Given the description of an element on the screen output the (x, y) to click on. 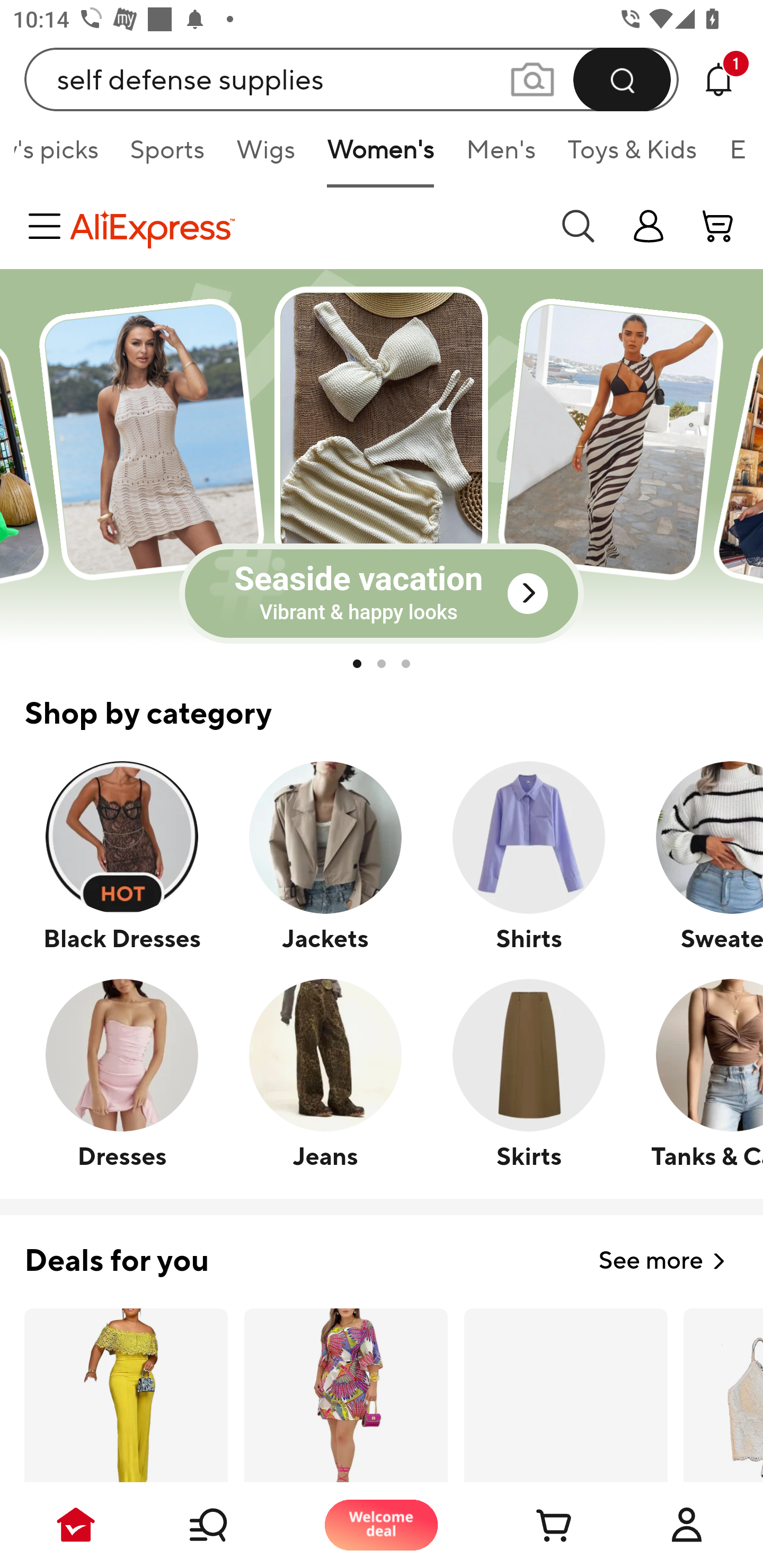
self defense supplies (351, 79)
Paddy's picks (63, 155)
Sports (166, 155)
Wigs (265, 155)
Men's (500, 155)
Toys & Kids (632, 155)
aliexpress (305, 225)
category (47, 225)
shop (648, 225)
account (718, 225)
Shop by category (381, 702)
Black Dresses 225x230.png_ Black Dresses (121, 855)
Jackets 225x225.png_ Jackets (324, 855)
Shirts 225x225.png_ Shirts (528, 855)
Sweaters 225x225.png_ Sweaters (696, 855)
Dresses 225x225.png_ Dresses (121, 1073)
Jeans 225x225.png_ Jeans (324, 1073)
Skirts 225x225.png_ Skirts (528, 1073)
Tanks & Camis 225x225.png_ Tanks & Camis (696, 1073)
Deals for you See more  Deals for youSee more (381, 1249)
Shop (228, 1524)
Cart (533, 1524)
Account (686, 1524)
